Given the description of an element on the screen output the (x, y) to click on. 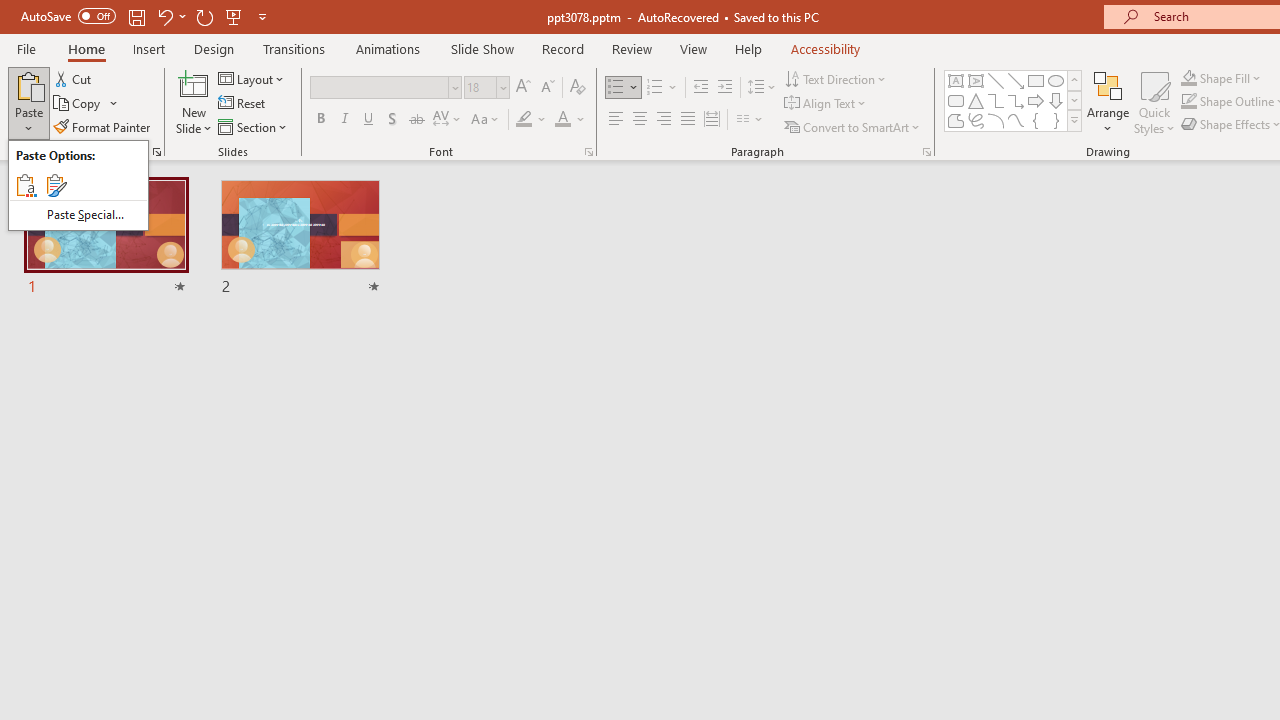
Align Left (616, 119)
Cut (73, 78)
Paste (77, 185)
Italic (344, 119)
Font Color (569, 119)
Numbering (661, 87)
Bold (320, 119)
Align Text (826, 103)
New Slide (193, 84)
Font Size (486, 87)
Shadow (392, 119)
Character Spacing (447, 119)
Reset (243, 103)
